Given the description of an element on the screen output the (x, y) to click on. 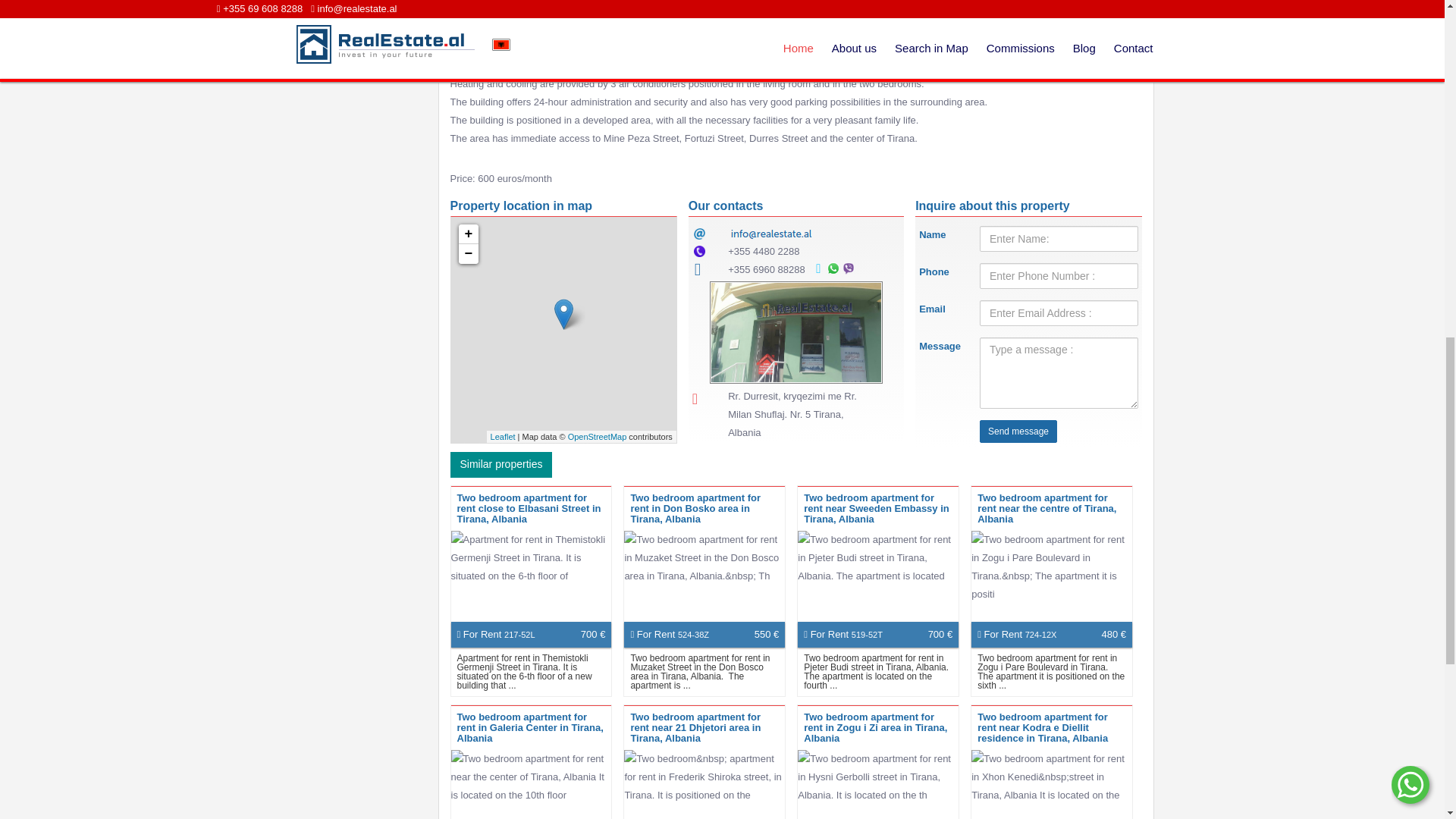
Send message (1018, 431)
Send message (1018, 431)
OpenStreetMap (597, 436)
Leaflet (502, 436)
Similar properties (501, 464)
Zoom out (467, 253)
Zoom in (467, 234)
